Given the description of an element on the screen output the (x, y) to click on. 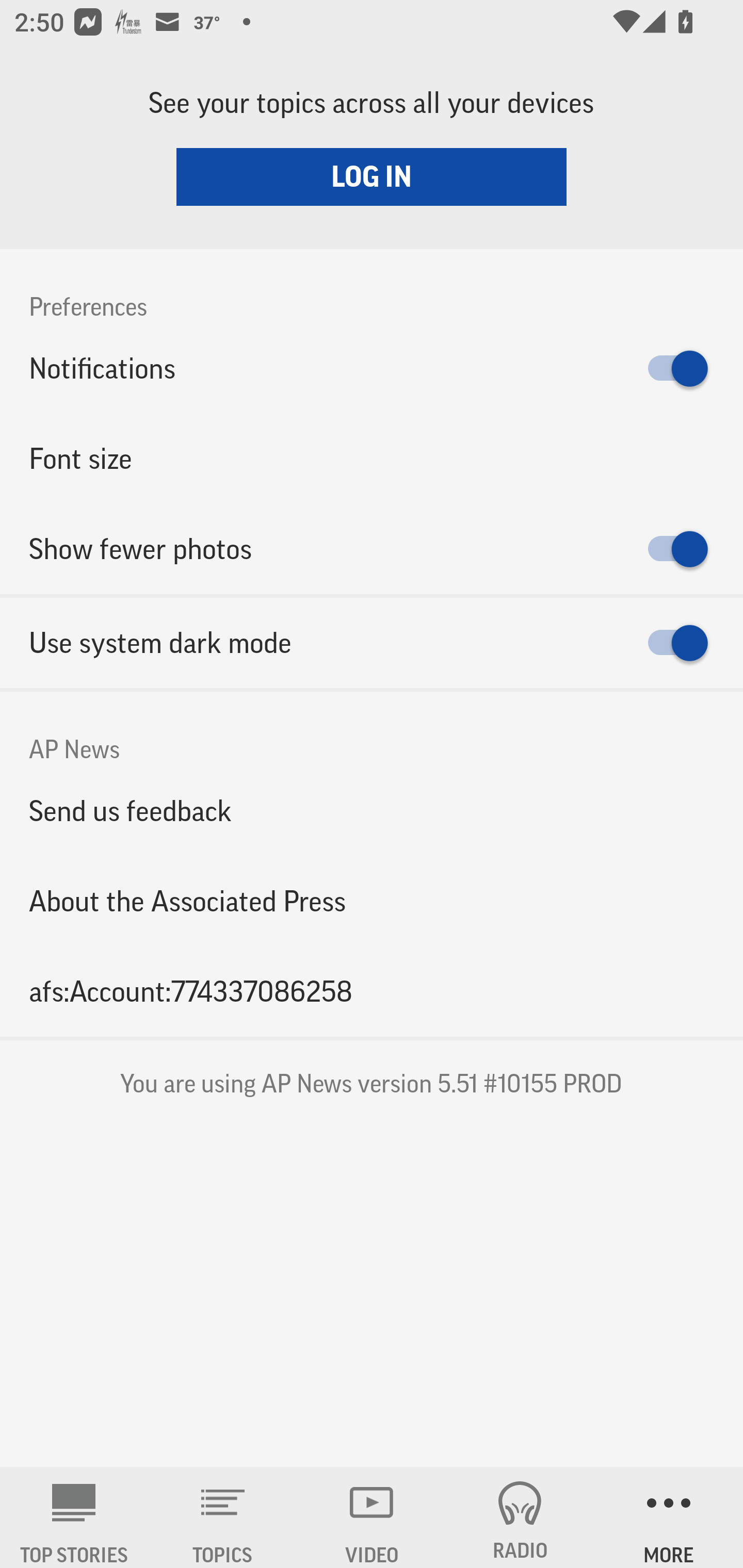
LOG IN (371, 176)
Notifications (371, 368)
Font size (371, 458)
Show fewer photos (371, 548)
Use system dark mode (371, 642)
Send us feedback (371, 810)
About the Associated Press (371, 901)
afs:Account:774337086258 (371, 991)
AP News TOP STORIES (74, 1517)
TOPICS (222, 1517)
VIDEO (371, 1517)
RADIO (519, 1517)
MORE (668, 1517)
